Given the description of an element on the screen output the (x, y) to click on. 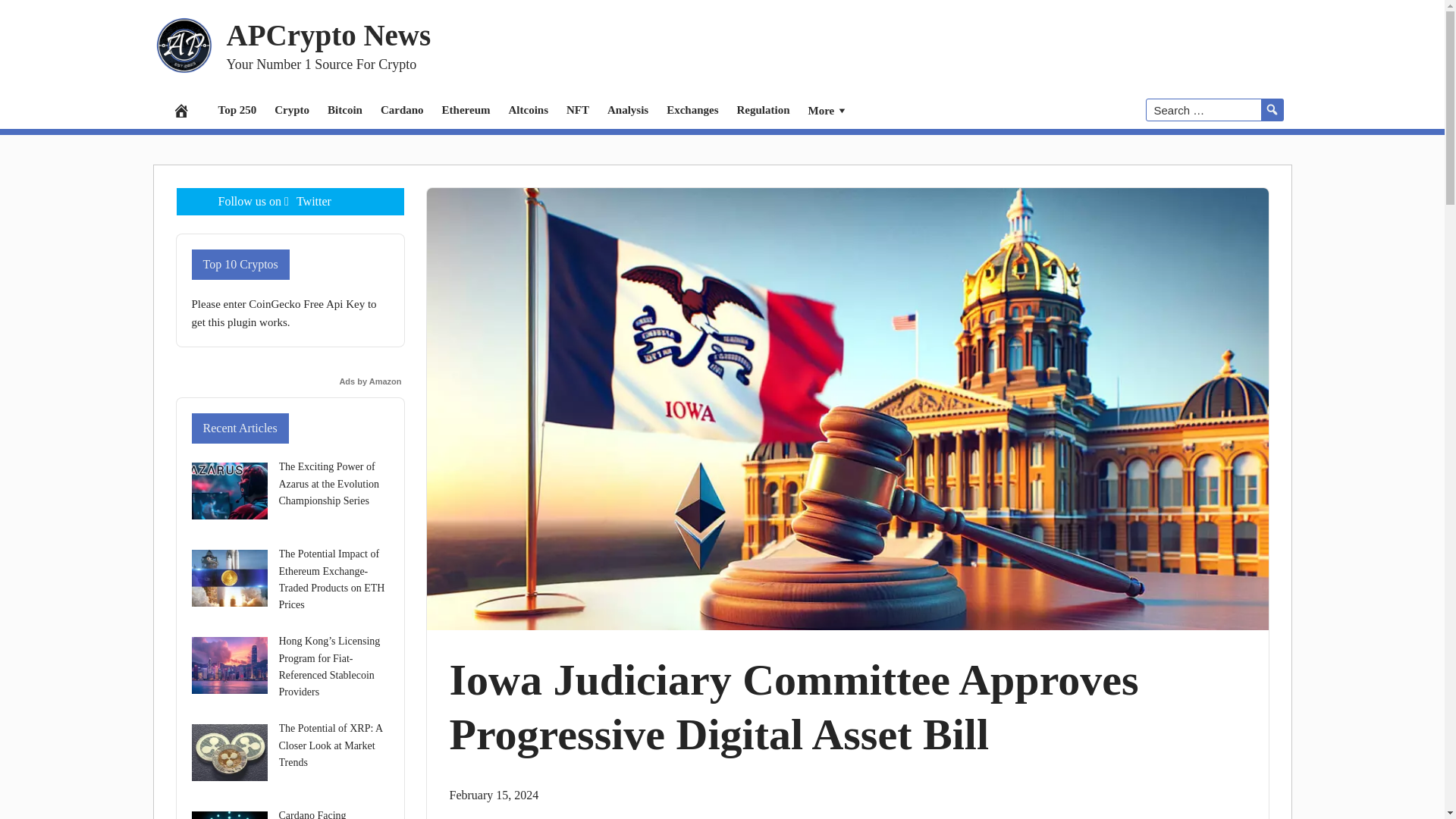
Top 250 (237, 109)
Regulation (763, 109)
Analysis (628, 109)
Cardano (401, 109)
Exchanges (692, 109)
More (829, 109)
Crypto (291, 109)
APCrypto News (327, 34)
Altcoins (528, 109)
Ethereum (465, 109)
Bitcoin (344, 109)
NFT (577, 109)
